Given the description of an element on the screen output the (x, y) to click on. 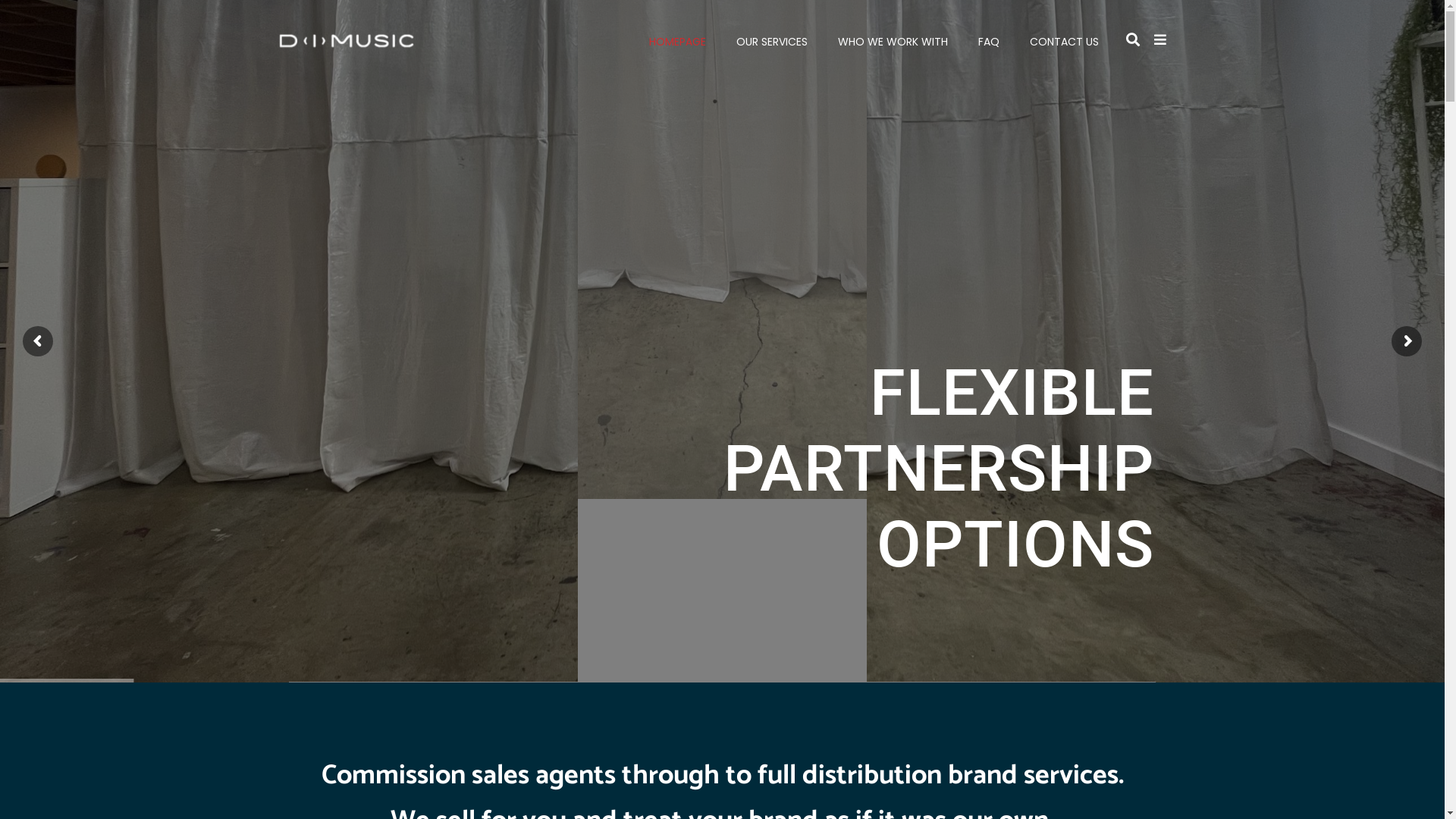
CONTACT US Element type: text (1056, 41)
FAQ Element type: text (988, 41)
HOMEPAGE Element type: text (677, 41)
OUR SERVICES Element type: text (771, 41)
WHO WE WORK WITH Element type: text (892, 41)
